Given the description of an element on the screen output the (x, y) to click on. 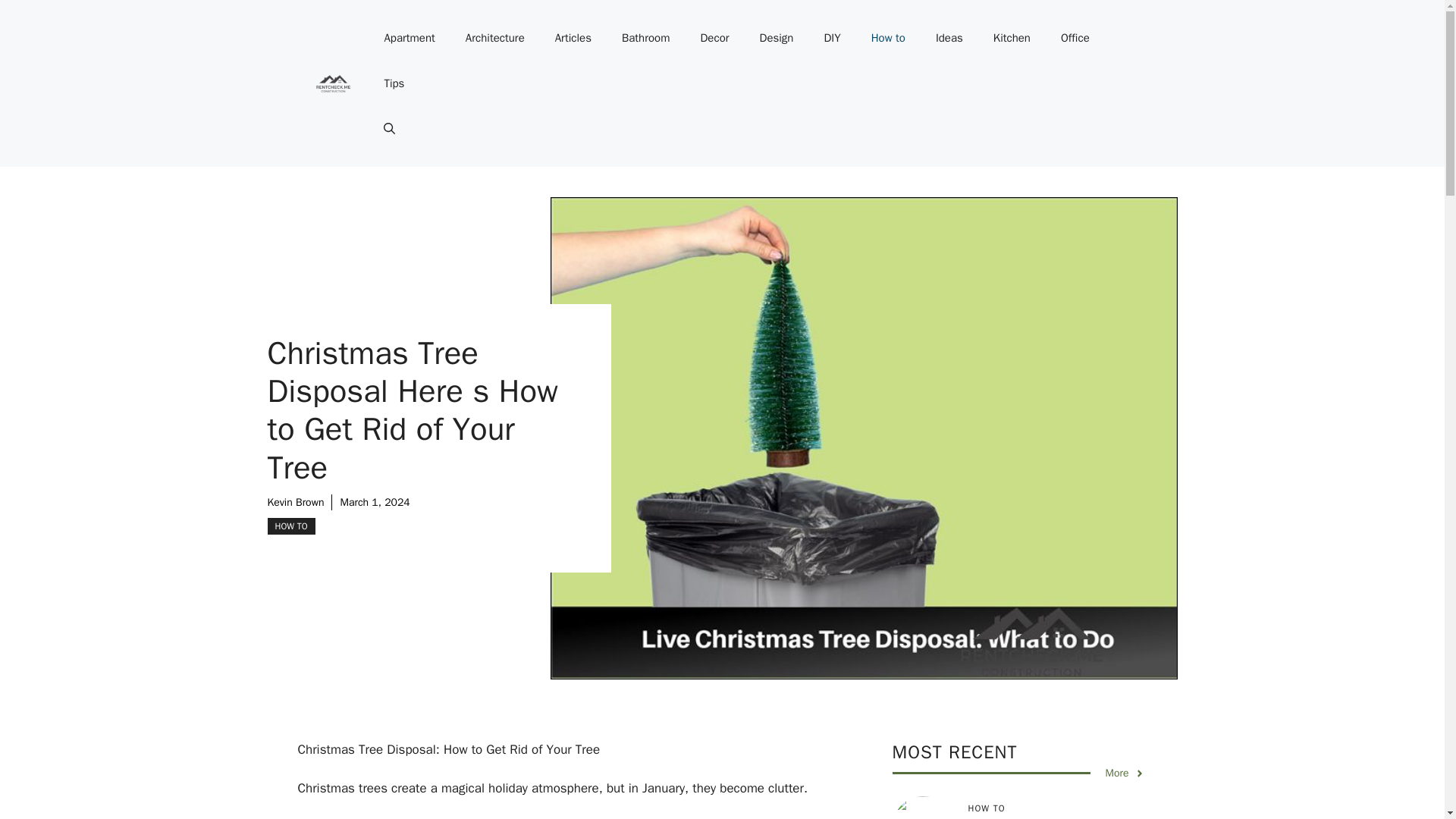
Architecture (494, 37)
Bathroom (646, 37)
Office (1075, 37)
Apartment (408, 37)
Decor (714, 37)
Kitchen (1011, 37)
How to (888, 37)
Kevin Brown (294, 502)
Tips (393, 83)
Design (776, 37)
